Given the description of an element on the screen output the (x, y) to click on. 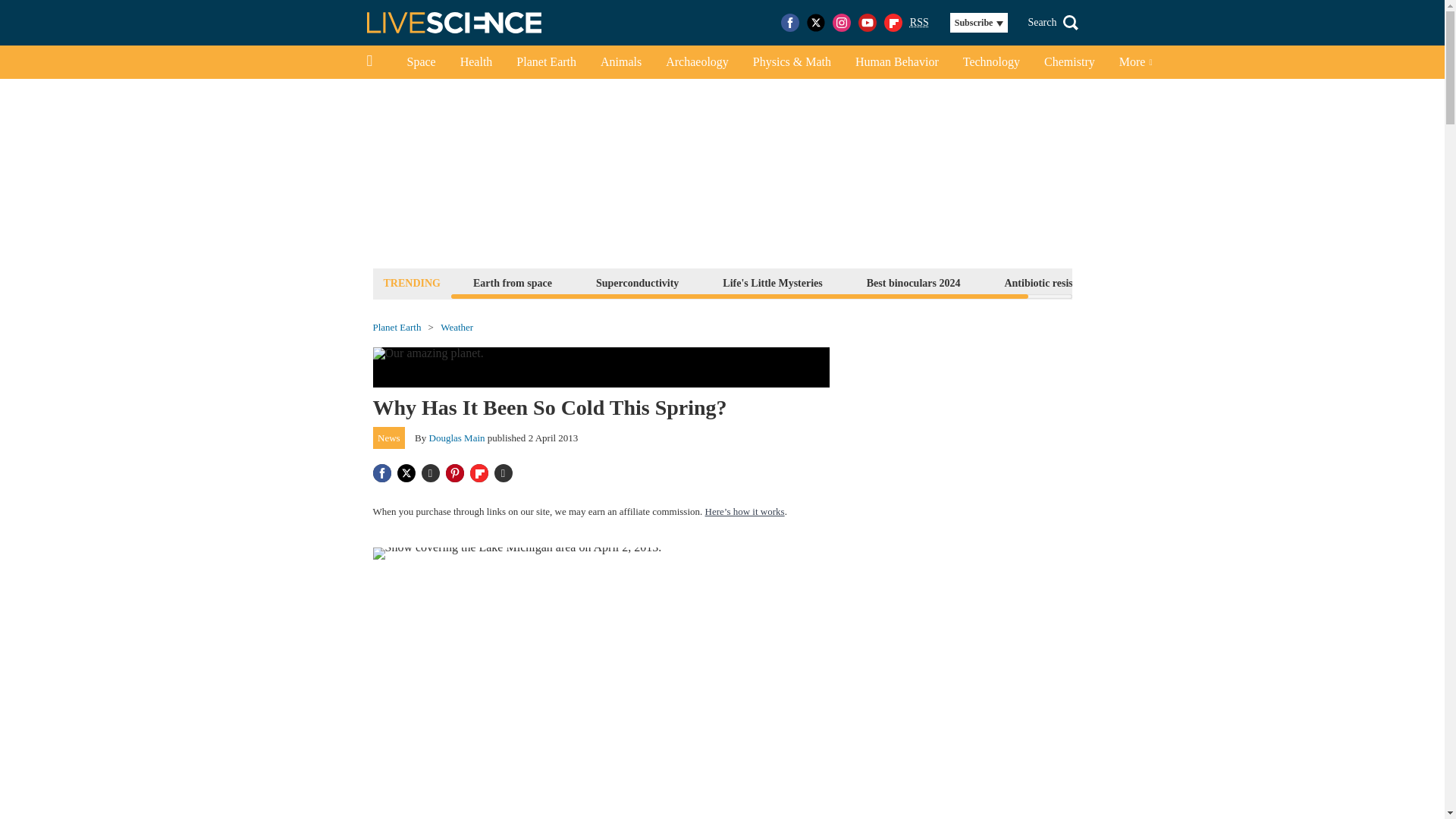
Human Behavior (896, 61)
Douglas Main (456, 437)
Superconductivity (637, 282)
Health (476, 61)
Earth from space (512, 282)
Really Simple Syndication (919, 21)
Space (420, 61)
Animals (620, 61)
Chemistry (1069, 61)
RSS (919, 22)
